Given the description of an element on the screen output the (x, y) to click on. 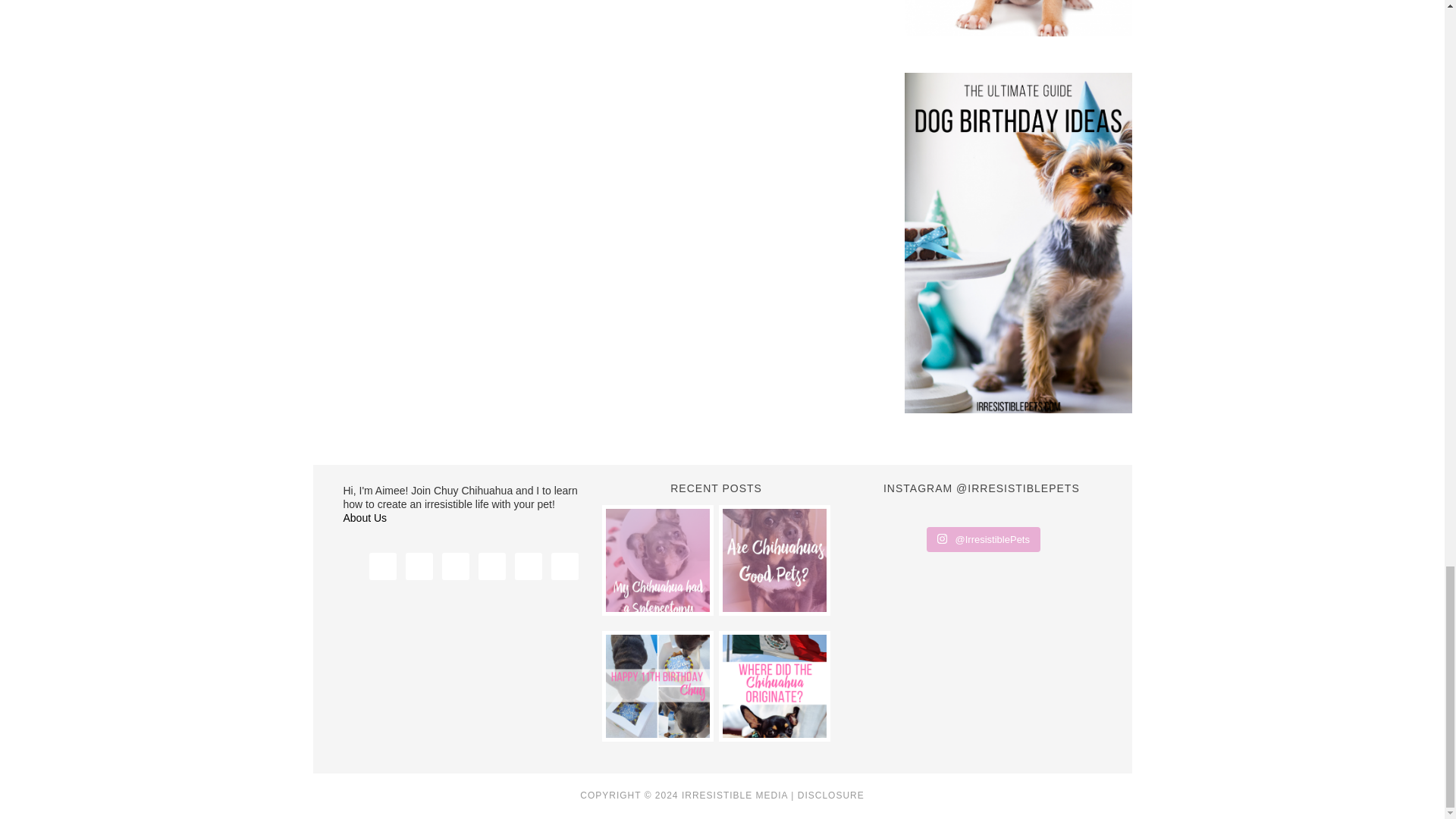
Where Did the Chihuahua Originate? (773, 685)
My Chihuahua Had a Splenectomy (657, 559)
Are Chihuahuas Good Pets? (773, 559)
About Us (364, 517)
